Given the description of an element on the screen output the (x, y) to click on. 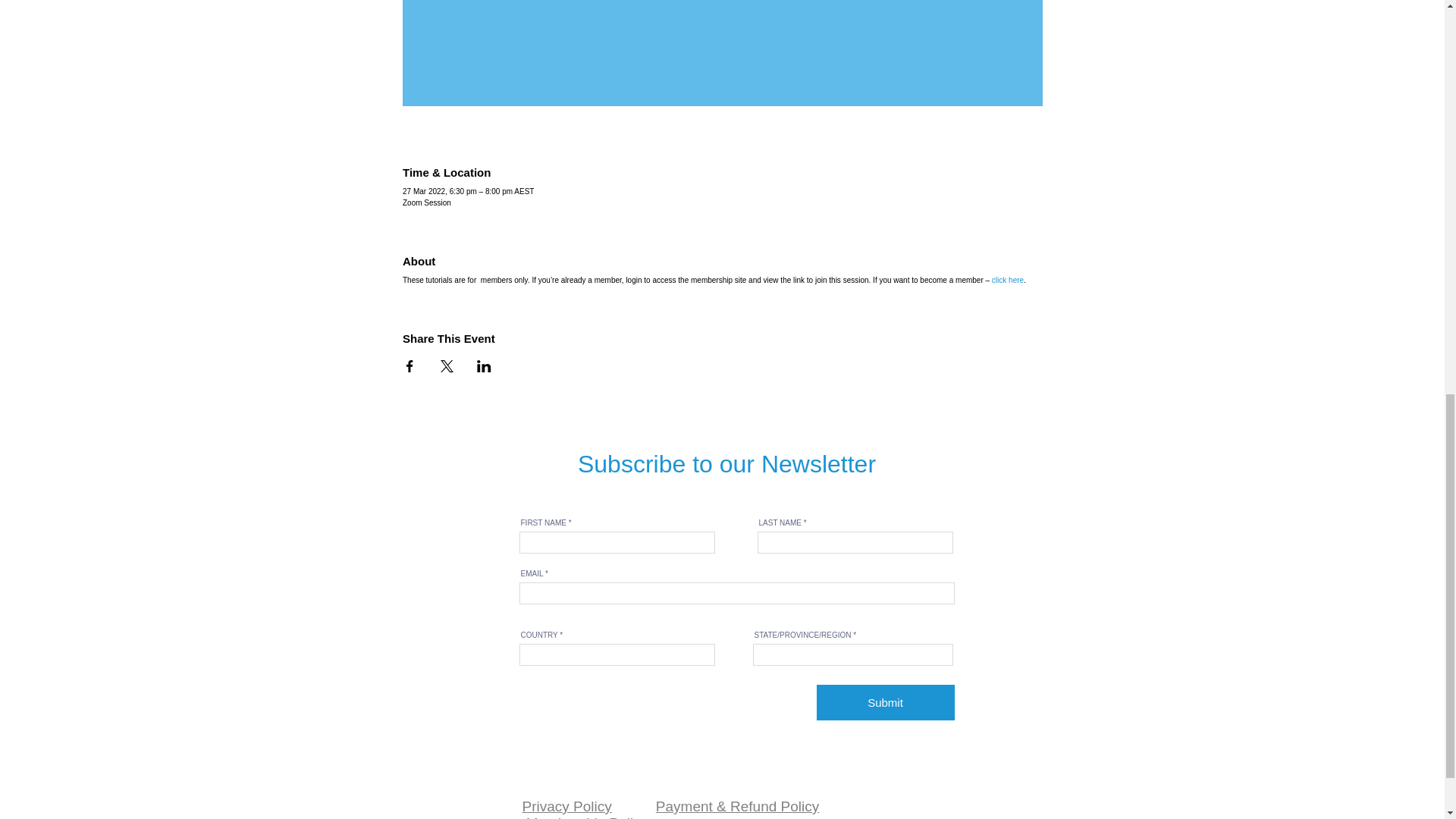
click here (1007, 280)
Privacy Policy (566, 806)
Submit (885, 702)
Membership Policy (586, 816)
